Given the description of an element on the screen output the (x, y) to click on. 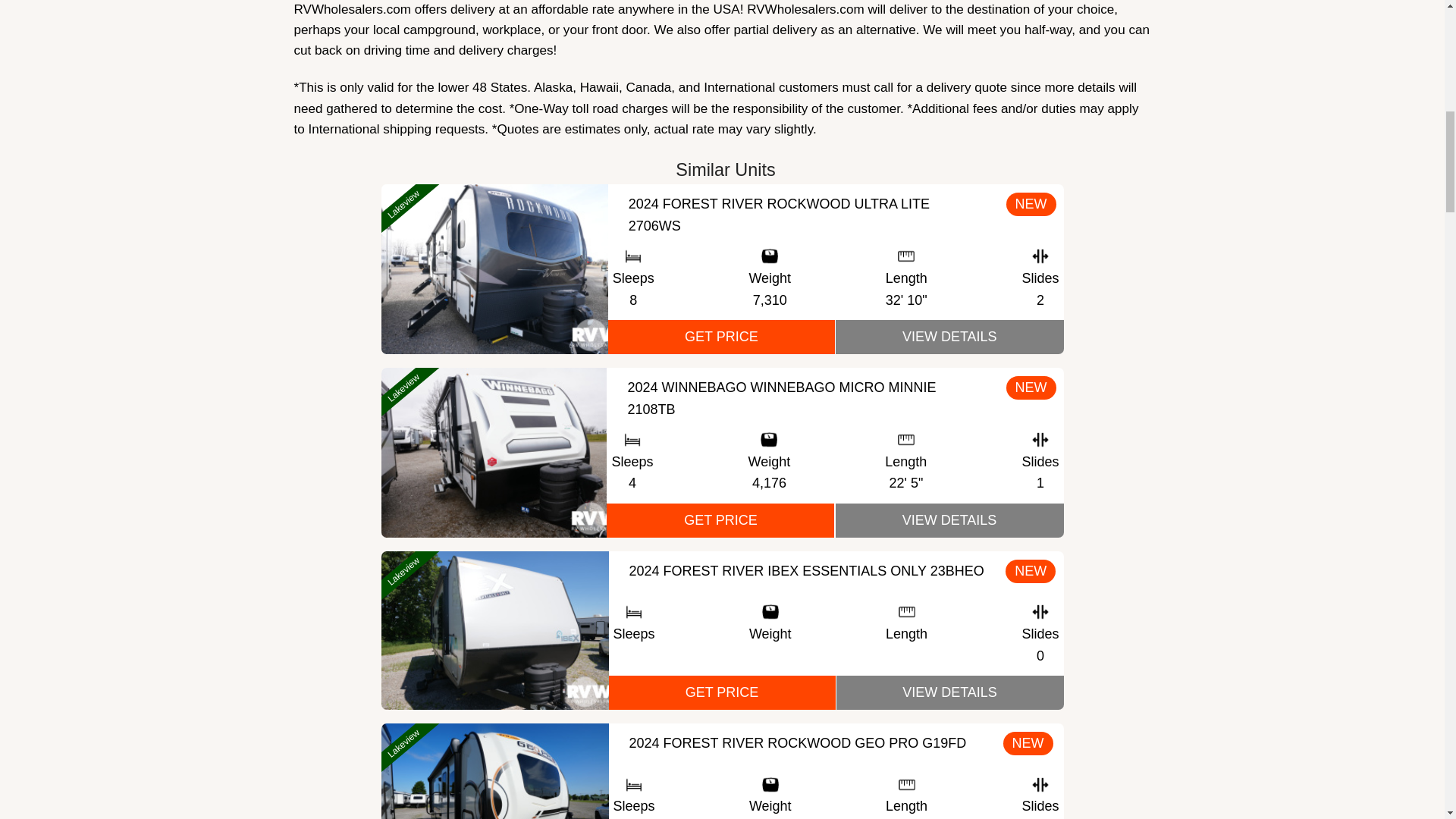
Length  (906, 656)
Sleeps 3 (632, 818)
Dry Weight 7,310 lbs (769, 300)
Dry Weight 4,176 lbs (769, 483)
Sleeps 8 (632, 300)
Dry Weight 3,233 lbs (770, 818)
Length 22' 5" (905, 483)
Length 32' 10" (906, 300)
Slide Outs 0 (1040, 656)
Sleeps  (632, 656)
Length 20' 2" (906, 818)
Slide Outs 2 (1040, 300)
Sleeps 4 (631, 483)
Slide Outs 1 (1040, 483)
Dry Weight  lbs (770, 656)
